Given the description of an element on the screen output the (x, y) to click on. 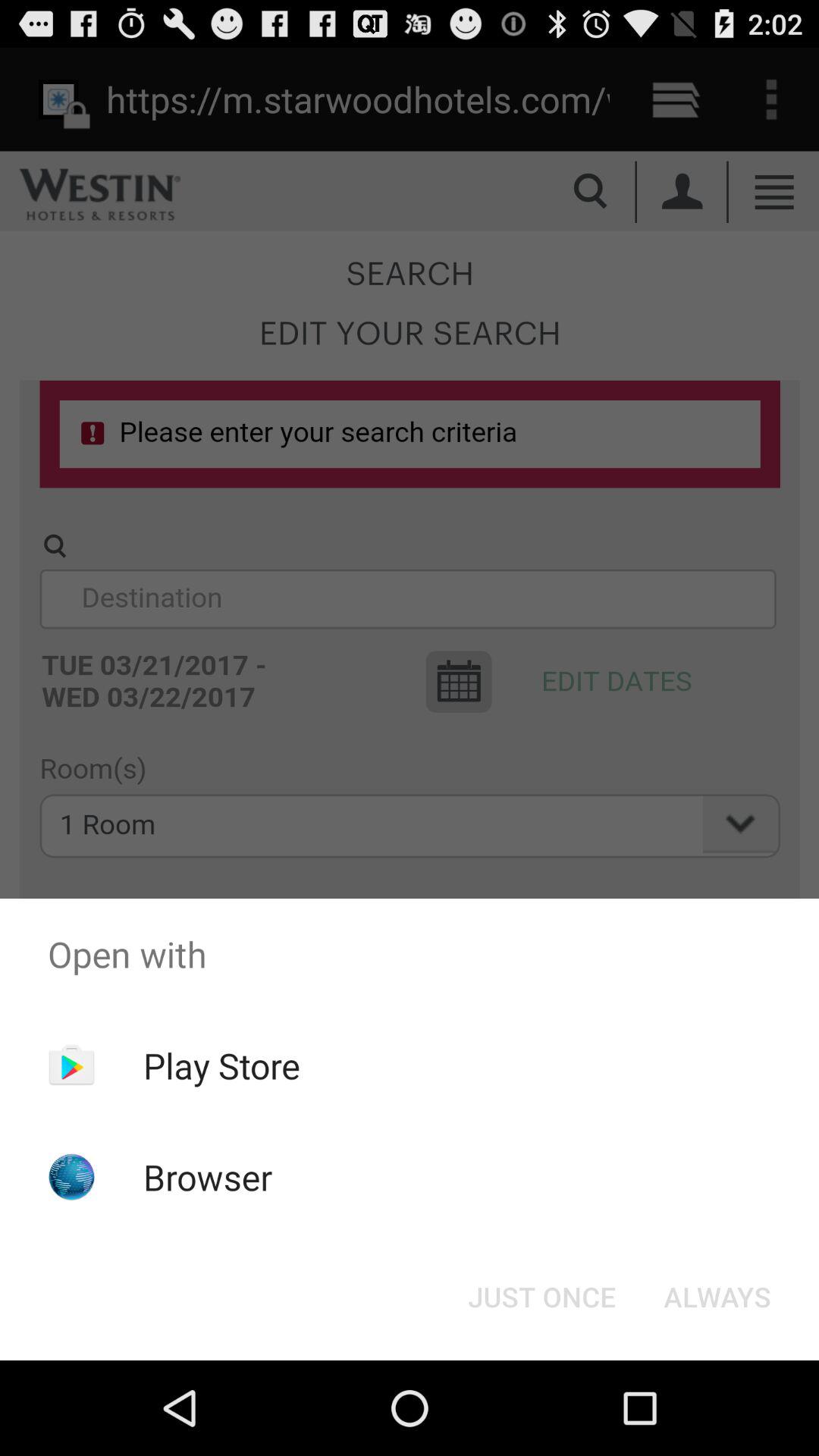
select item to the right of just once item (717, 1296)
